Given the description of an element on the screen output the (x, y) to click on. 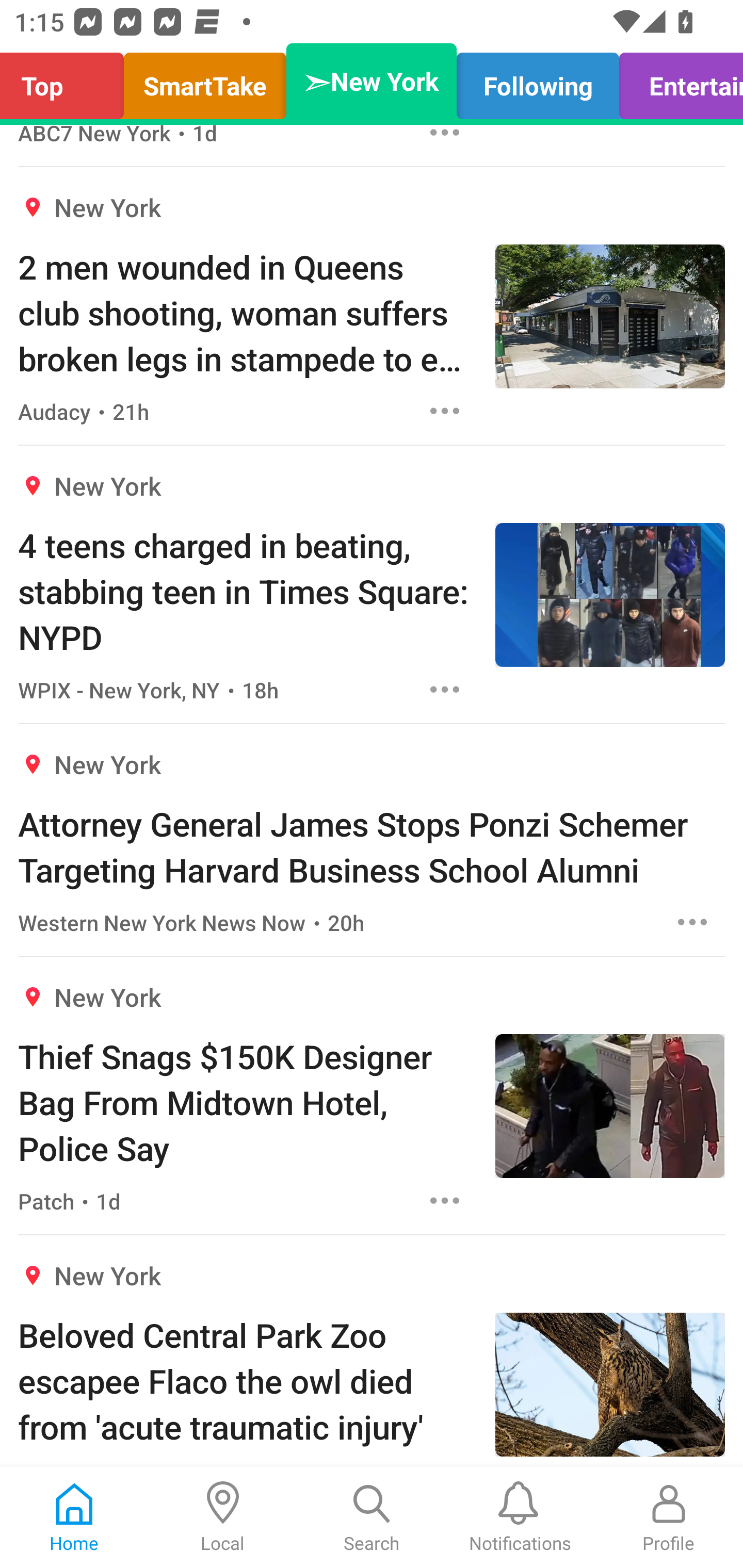
Top (67, 81)
SmartTake (204, 81)
➣New York (371, 81)
Following (537, 81)
Options (444, 410)
Options (444, 689)
Options (692, 921)
Options (444, 1201)
Local (222, 1517)
Search (371, 1517)
Notifications (519, 1517)
Profile (668, 1517)
